Given the description of an element on the screen output the (x, y) to click on. 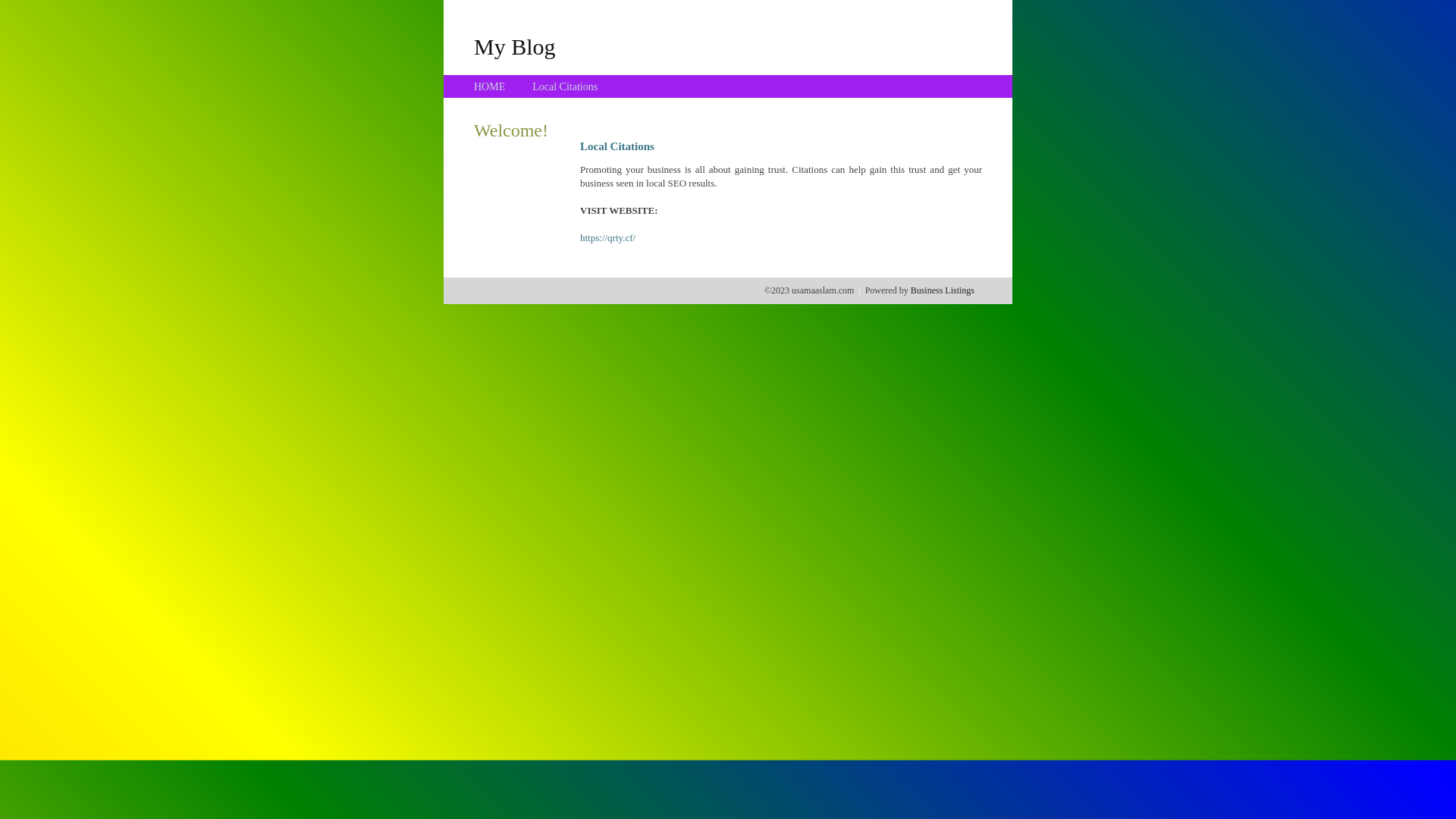
Business Listings Element type: text (942, 290)
https://qrty.cf/ Element type: text (607, 237)
My Blog Element type: text (514, 46)
Local Citations Element type: text (564, 86)
HOME Element type: text (489, 86)
